Given the description of an element on the screen output the (x, y) to click on. 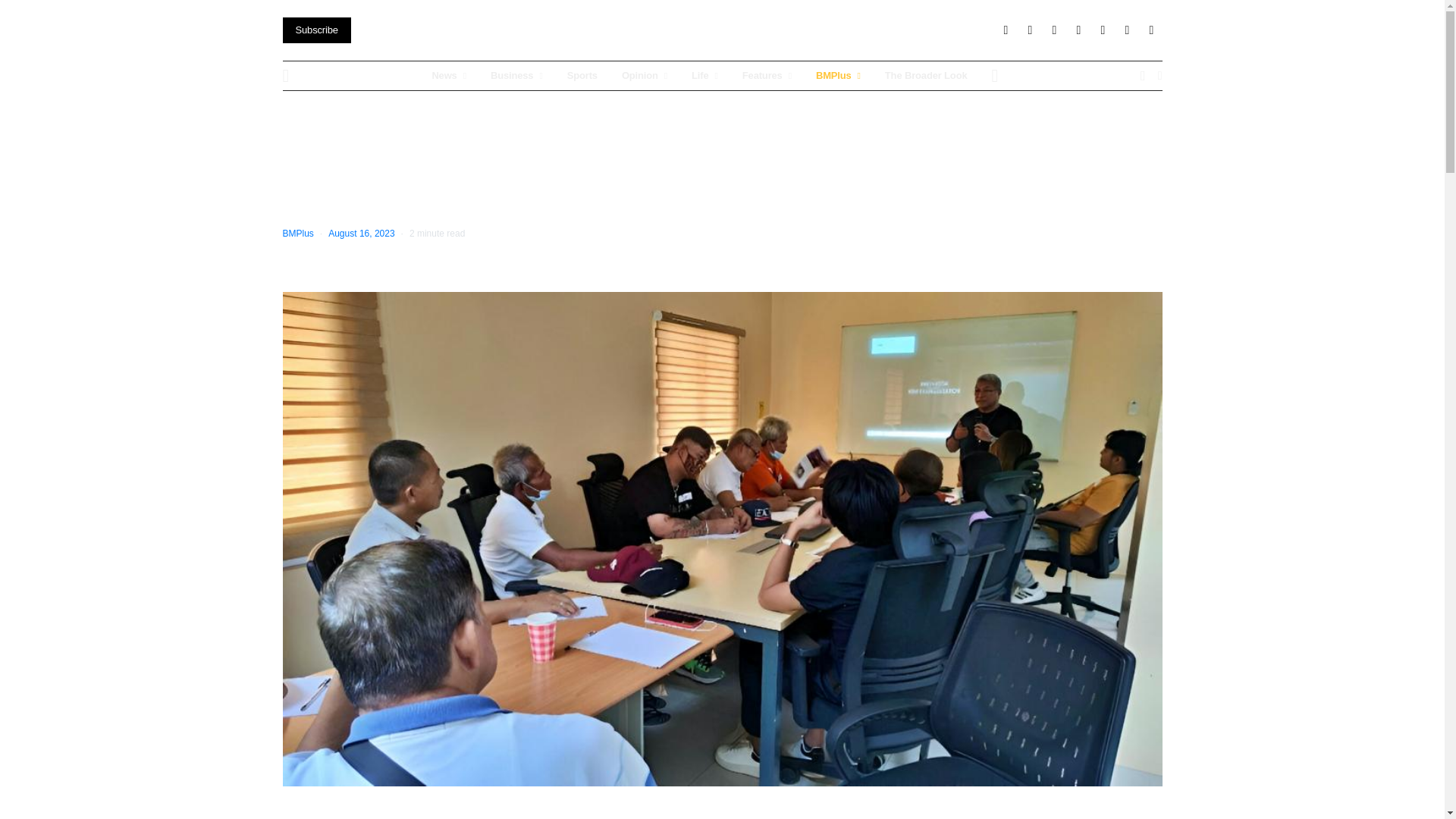
View all posts by BMPlus (297, 233)
